Given the description of an element on the screen output the (x, y) to click on. 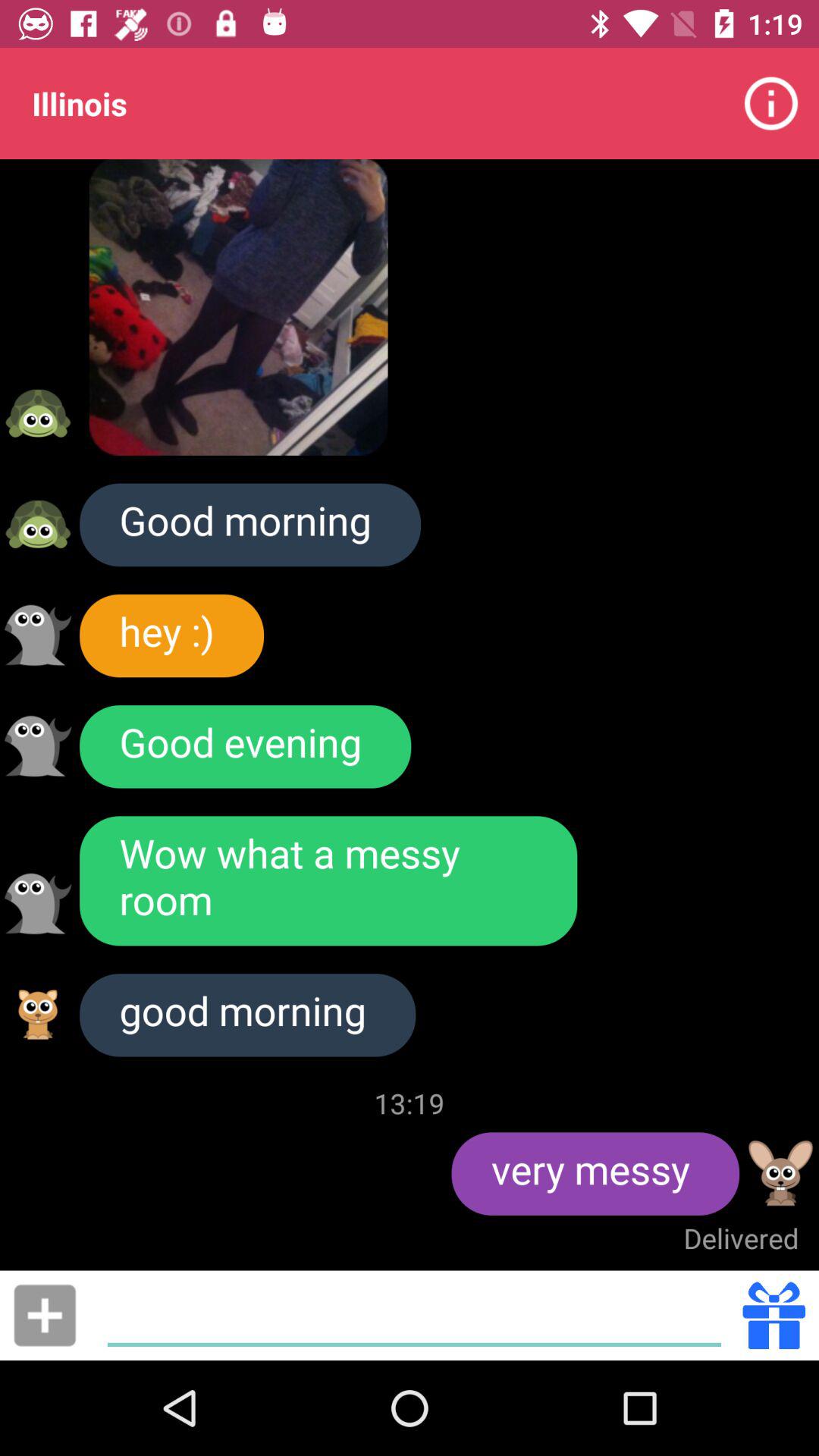
check user profile (780, 1173)
